Given the description of an element on the screen output the (x, y) to click on. 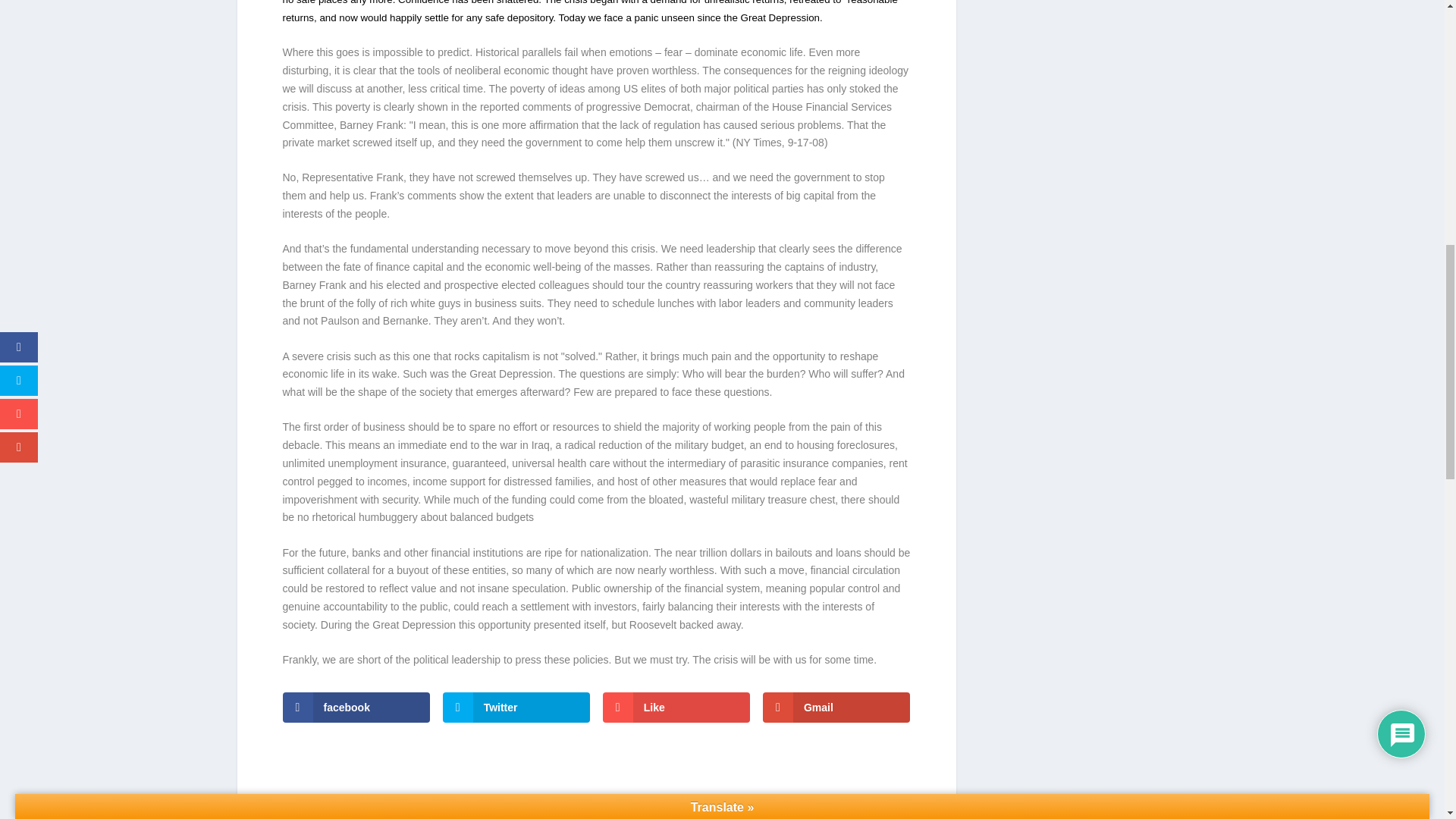
Share "Capitalism on the Ropes" via LinkedIn (636, 817)
Share "Capitalism on the Ropes" via Buffer (667, 817)
Share "Capitalism on the Ropes" via Tumblr (575, 817)
Share "Capitalism on the Ropes" via Facebook (485, 817)
Share "Capitalism on the Ropes" via Twitter (515, 817)
Share "Capitalism on the Ropes" via Pinterest (606, 817)
